Given the description of an element on the screen output the (x, y) to click on. 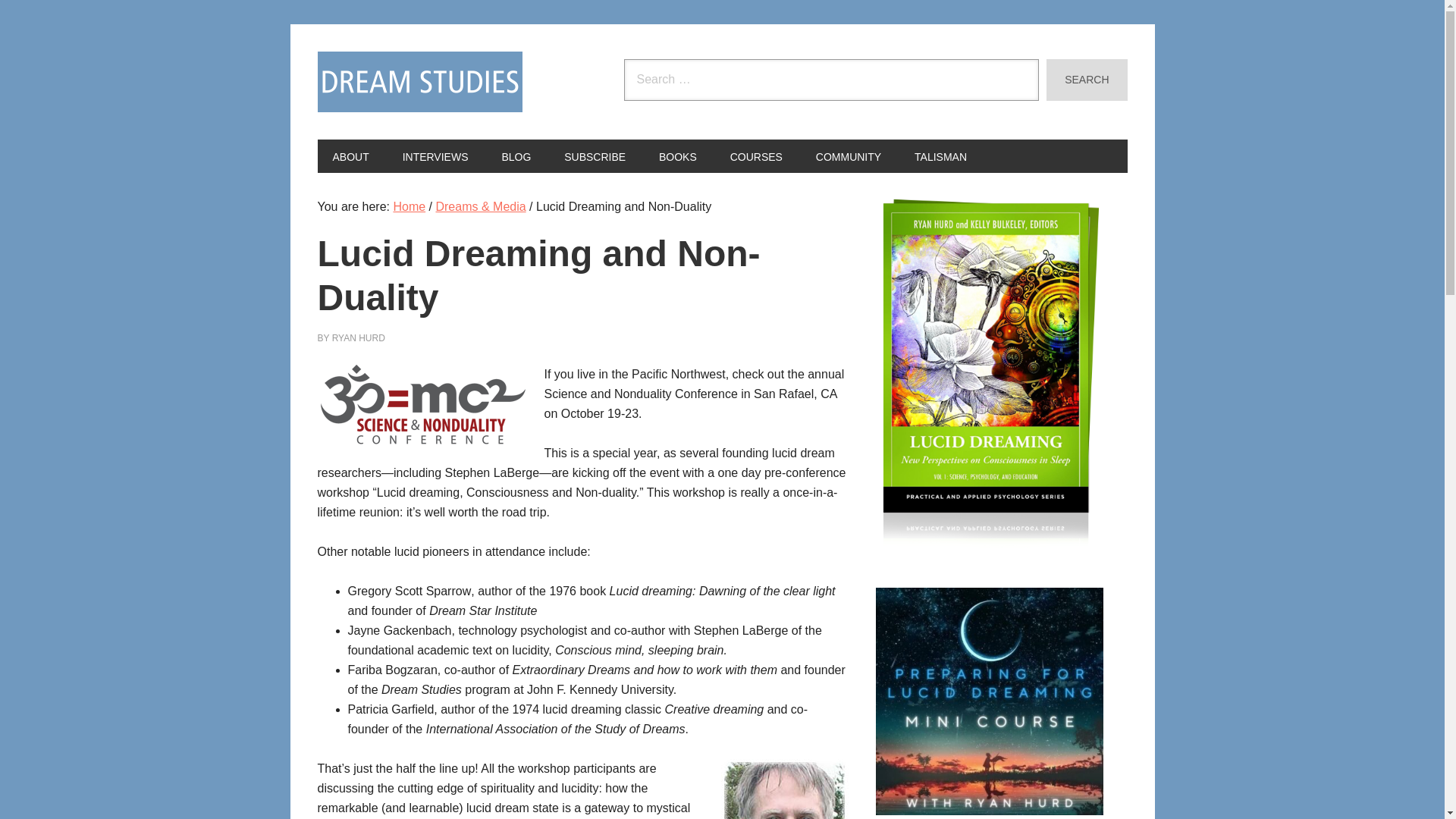
Home (409, 205)
lucid-dreaming-nondual (421, 405)
Search (1086, 79)
SUBSCRIBE (594, 155)
ABOUT (350, 155)
Search (1086, 79)
stephen-laBerge-lucid-dreaming (783, 789)
DREAM STUDIES PORTAL (419, 81)
COMMUNITY (848, 155)
RYAN HURD (358, 337)
